Given the description of an element on the screen output the (x, y) to click on. 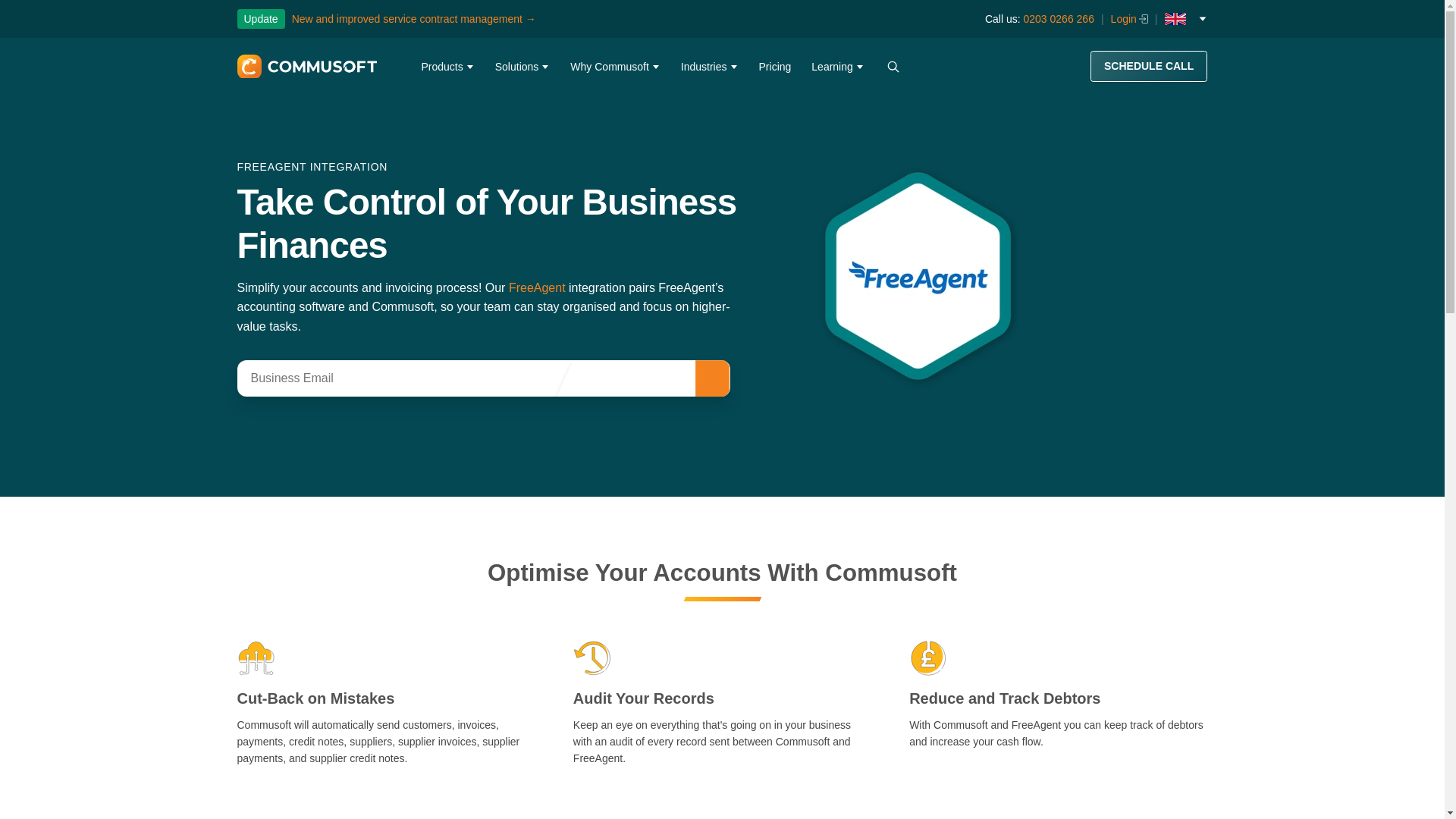
Commusoft (305, 66)
Products (446, 66)
